Given the description of an element on the screen output the (x, y) to click on. 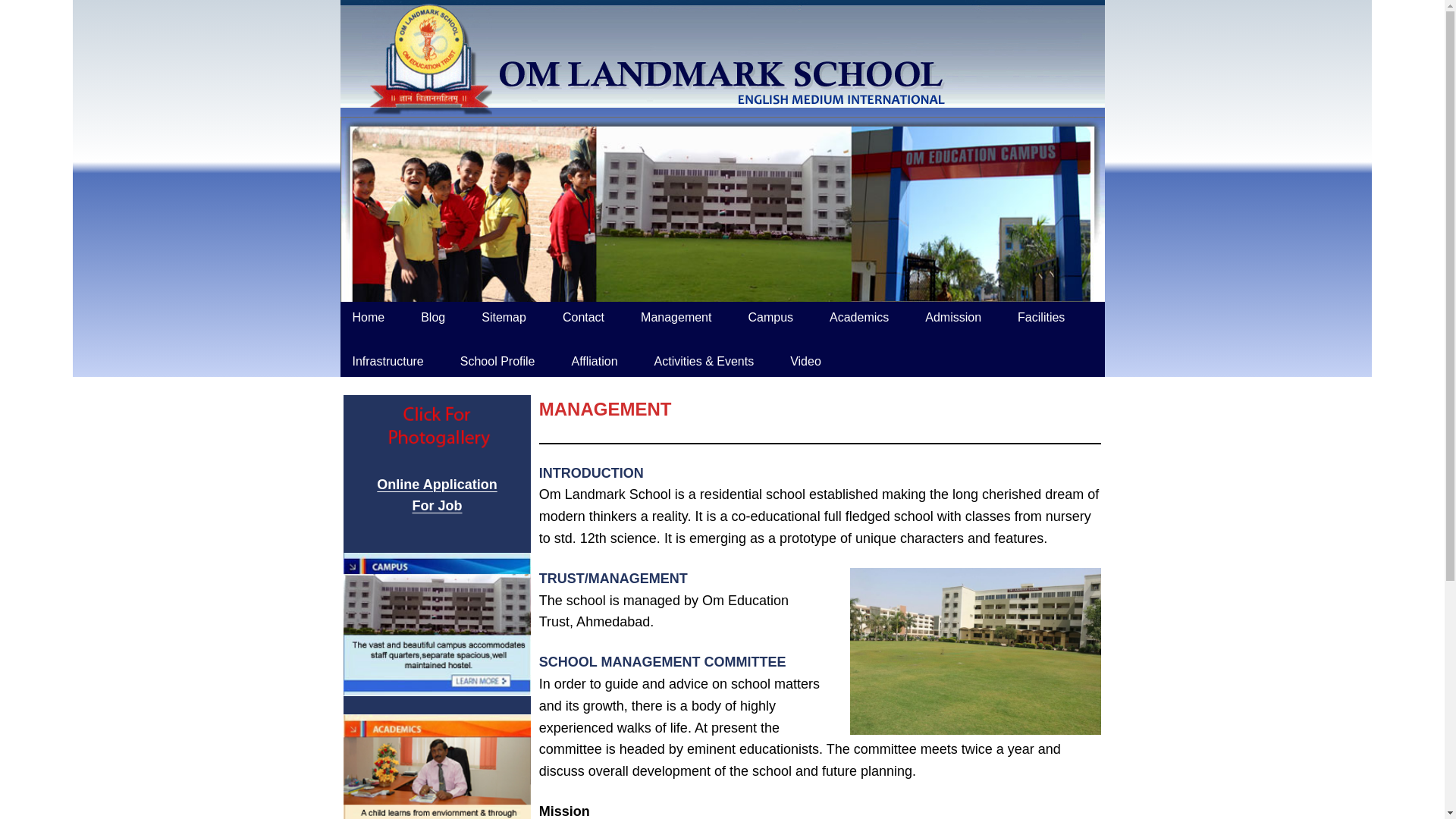
Campus (770, 317)
Infrastructure (436, 495)
Blog (387, 361)
Management (433, 317)
Facilities (675, 317)
Home (1041, 317)
Admission (367, 317)
Sitemap (952, 317)
Video (503, 317)
